Given the description of an element on the screen output the (x, y) to click on. 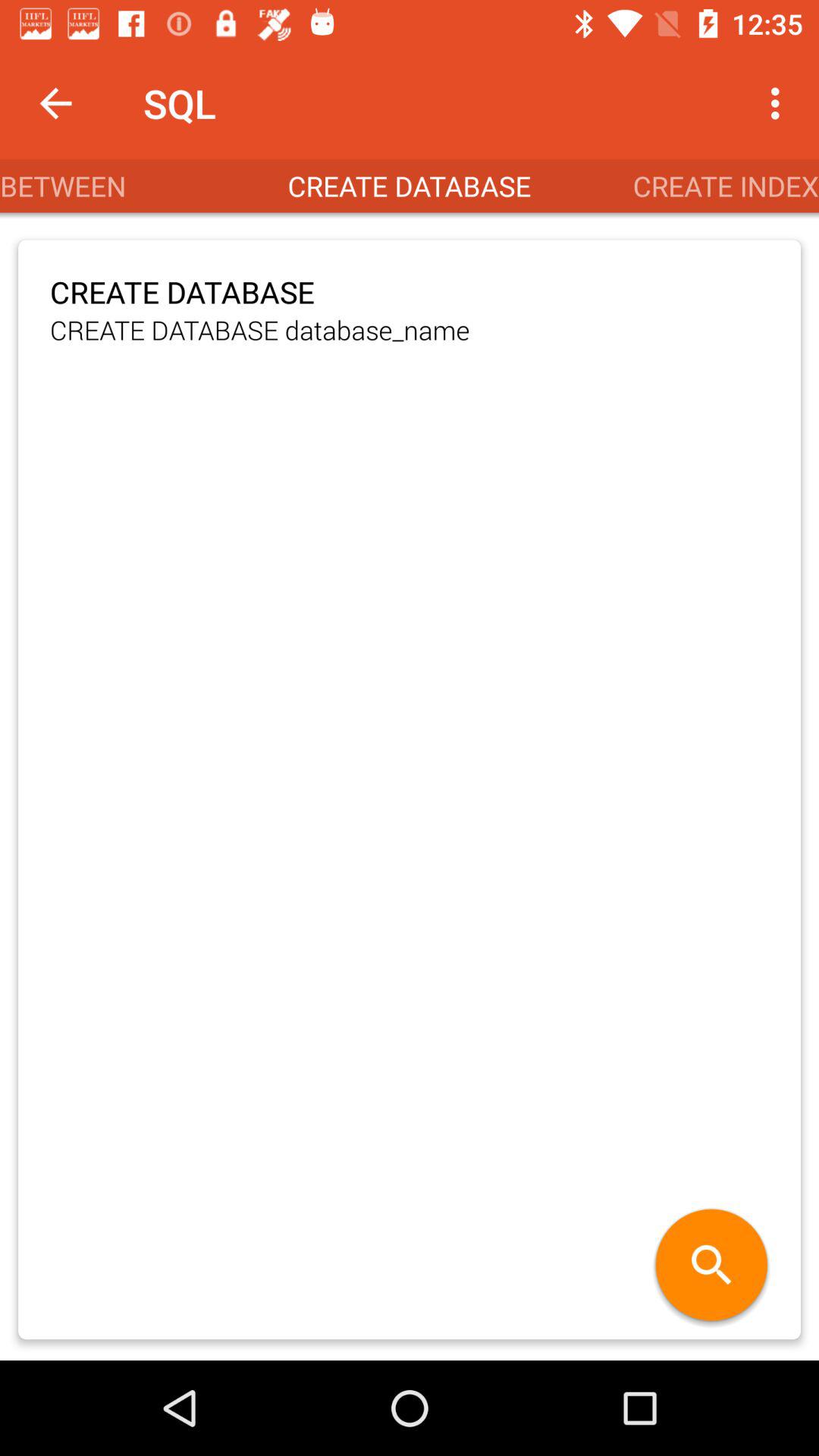
tap icon above between item (55, 103)
